Given the description of an element on the screen output the (x, y) to click on. 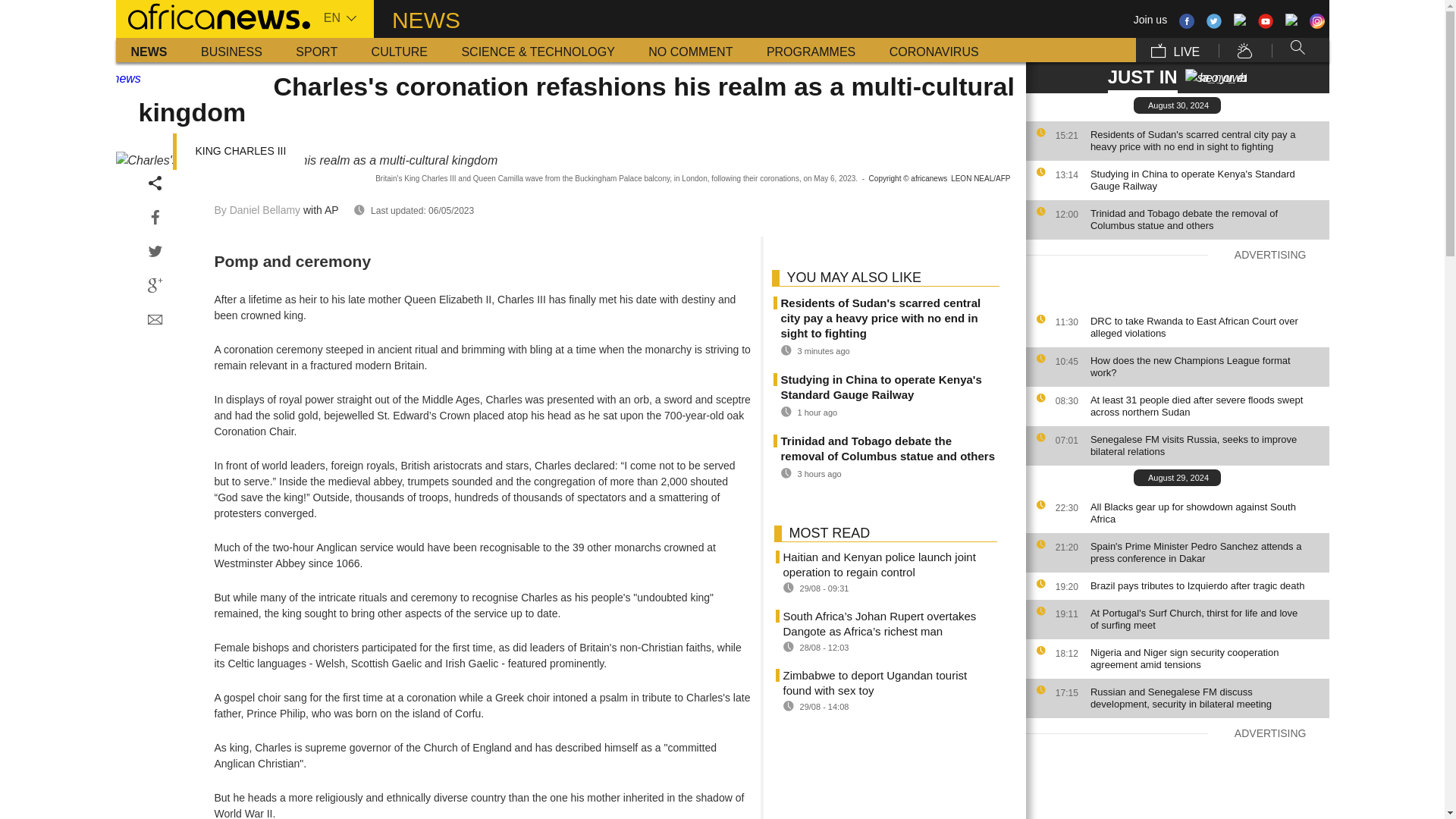
NEWS (148, 49)
News (148, 49)
No Comment (690, 49)
LIVE (1174, 49)
BUSINESS (232, 49)
NO COMMENT (690, 49)
CORONAVIRUS (934, 49)
Sport (316, 49)
